Given the description of an element on the screen output the (x, y) to click on. 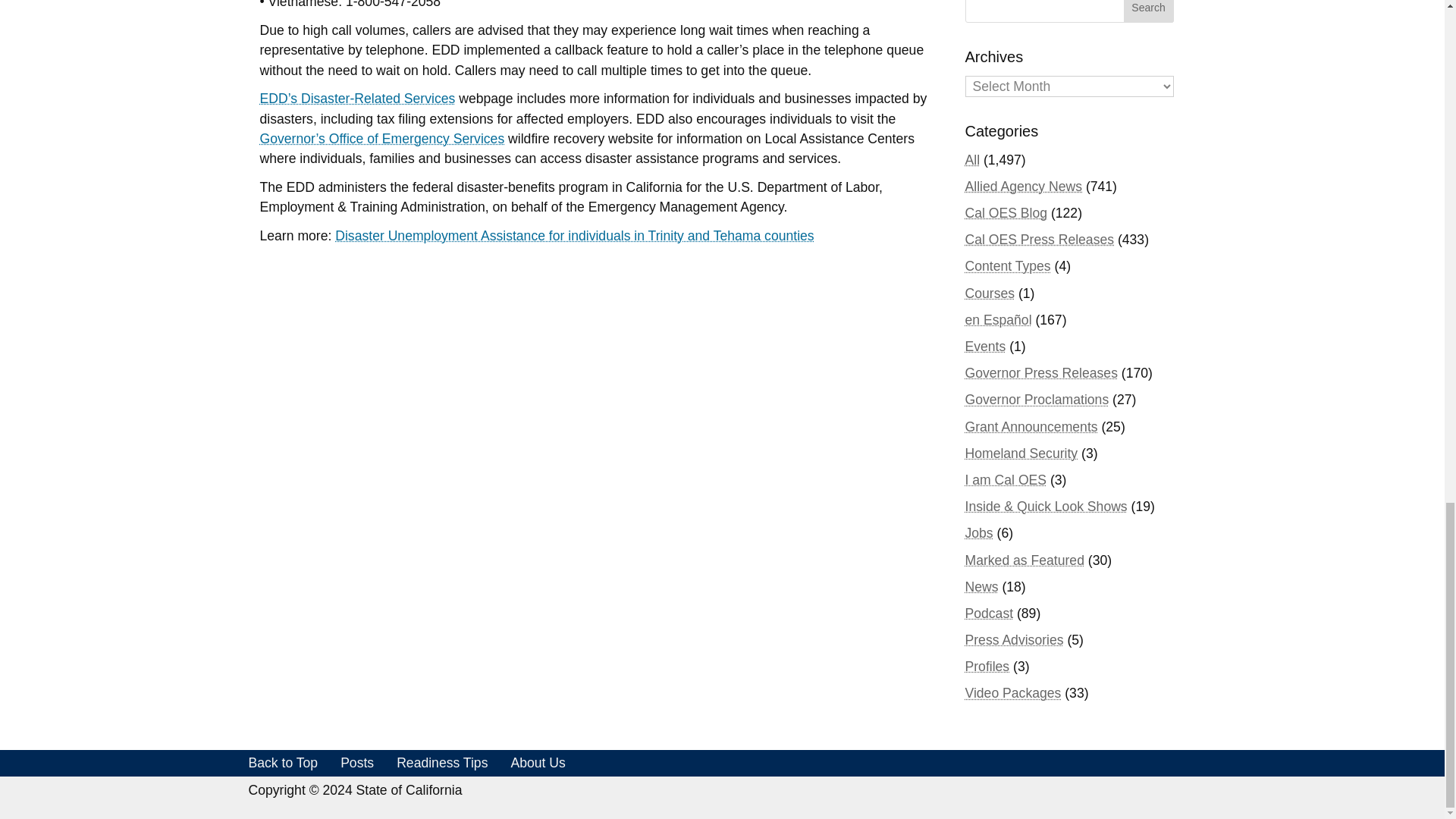
Back to Top (283, 762)
Search (1148, 11)
